Given the description of an element on the screen output the (x, y) to click on. 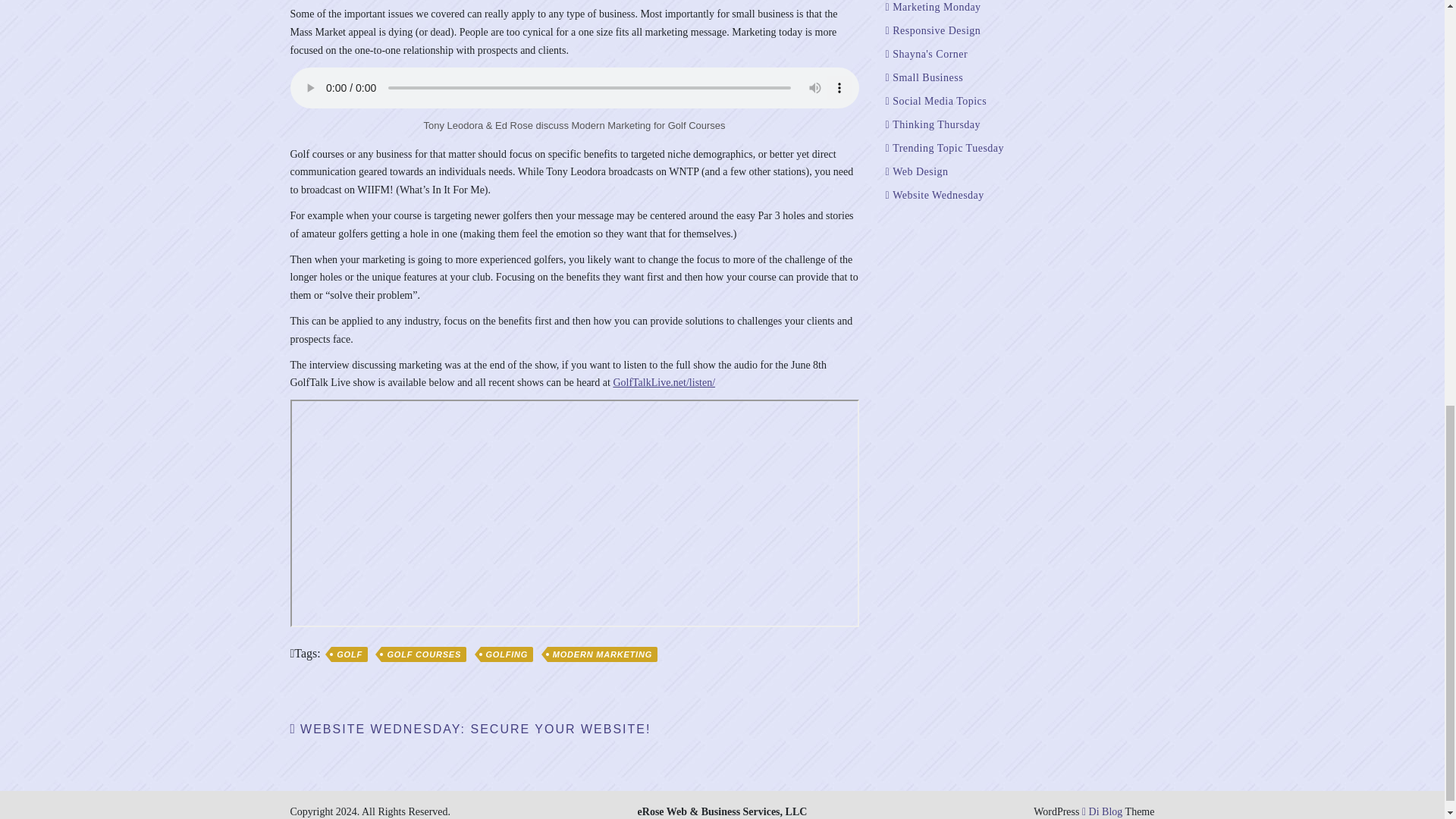
Responsive Design (933, 30)
MODERN MARKETING (602, 654)
GOLF COURSES (423, 654)
GOLFING (507, 654)
GOLF (349, 654)
WEBSITE WEDNESDAY: SECURE YOUR WEBSITE! (469, 728)
Marketing Monday (933, 7)
